Given the description of an element on the screen output the (x, y) to click on. 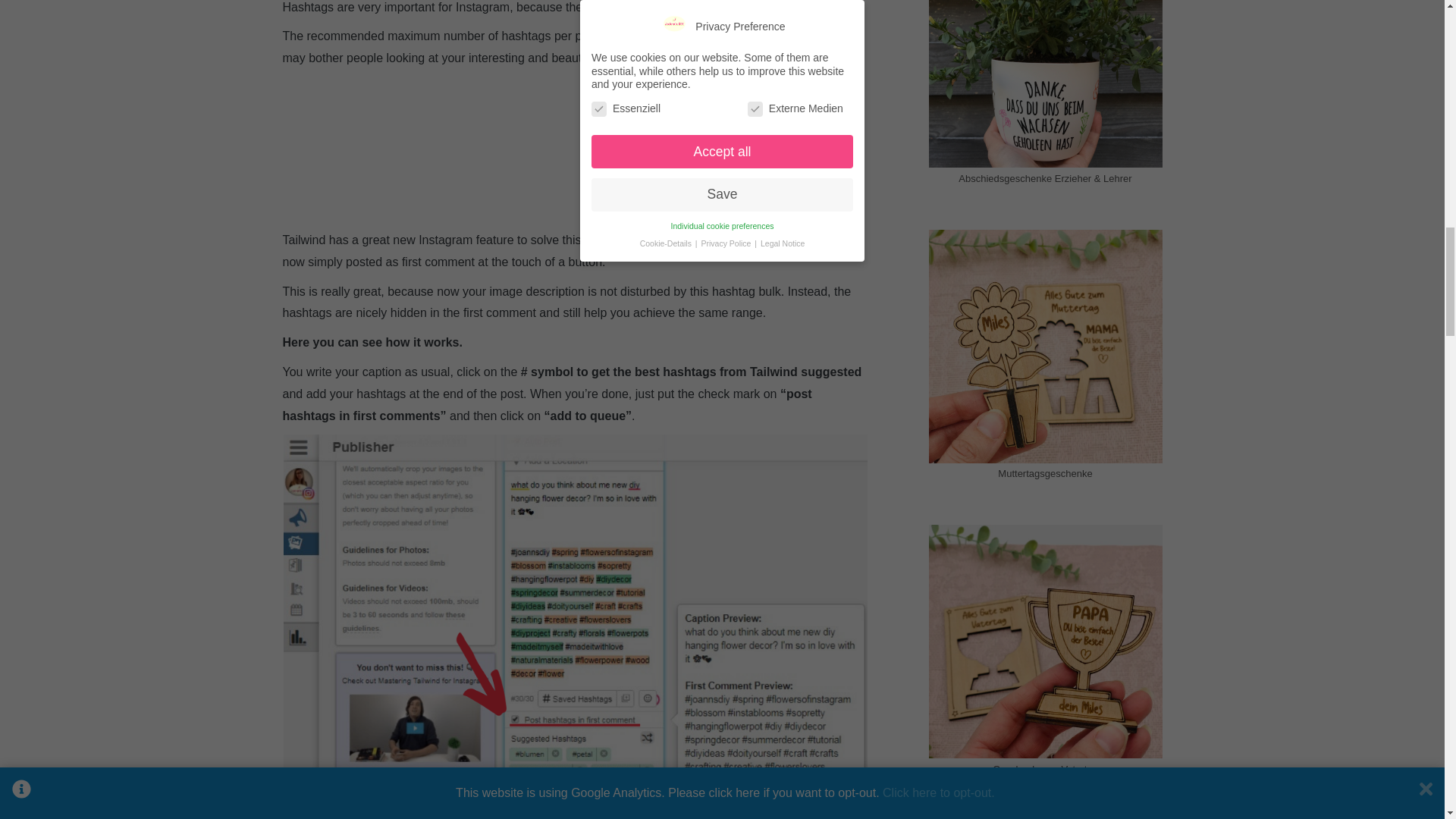
Advertisement (574, 149)
